Given the description of an element on the screen output the (x, y) to click on. 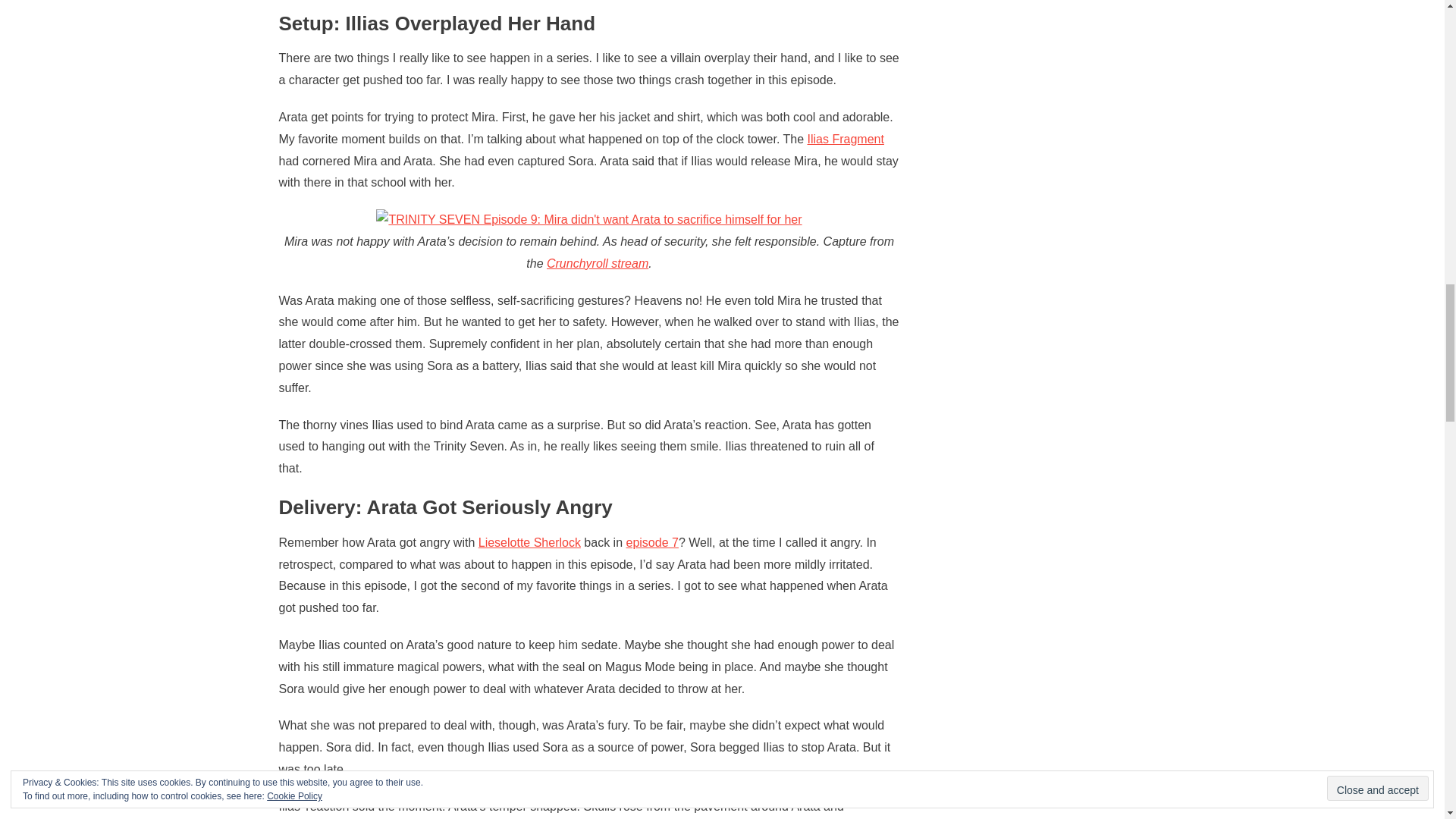
Lieselotte Sherlock (529, 542)
Crunchyroll stream (597, 263)
episode 7 (652, 542)
Ilias Fragment (844, 138)
